Given the description of an element on the screen output the (x, y) to click on. 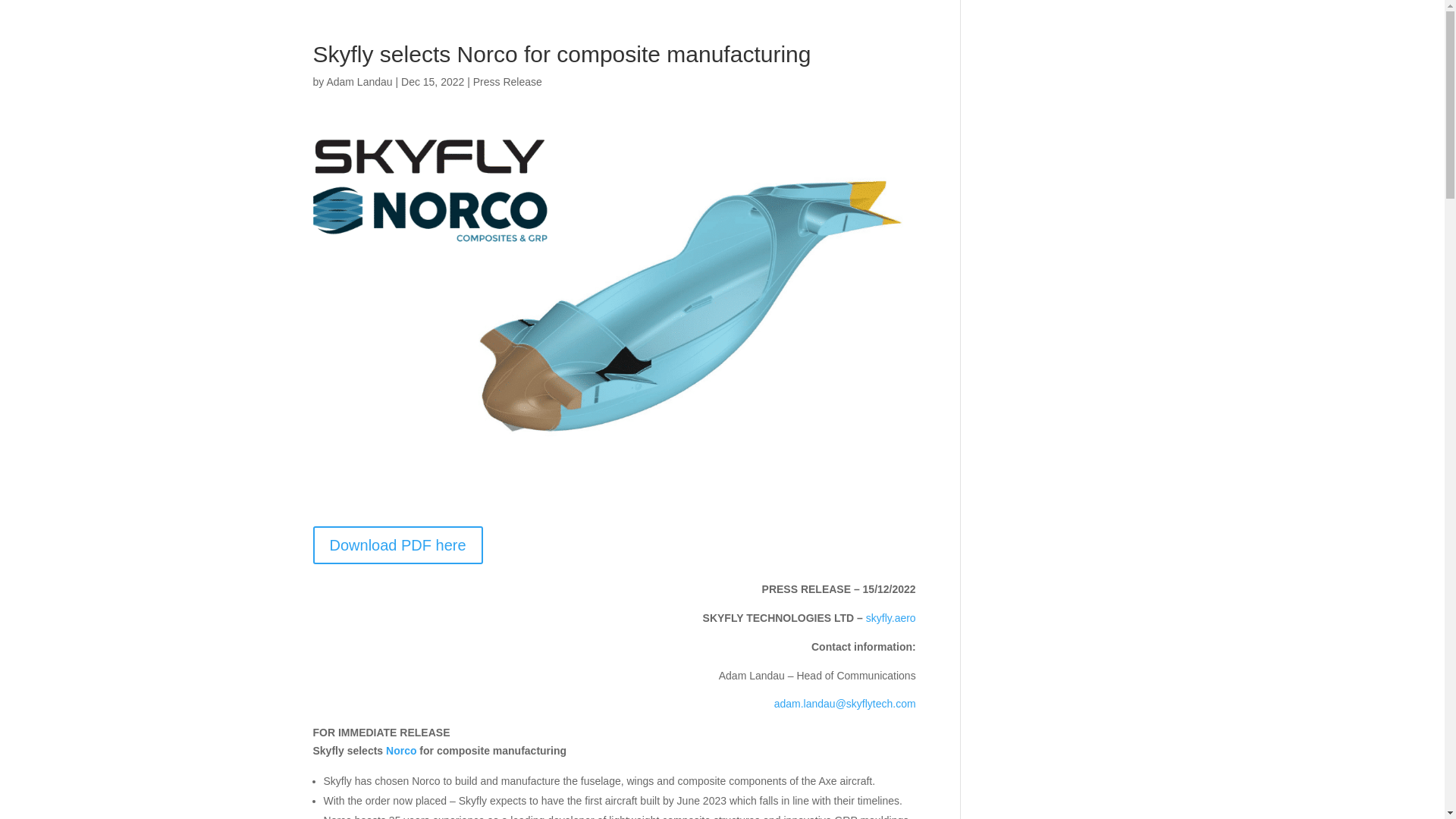
Posts by Adam Landau (358, 81)
Adam Landau (358, 81)
